Given the description of an element on the screen output the (x, y) to click on. 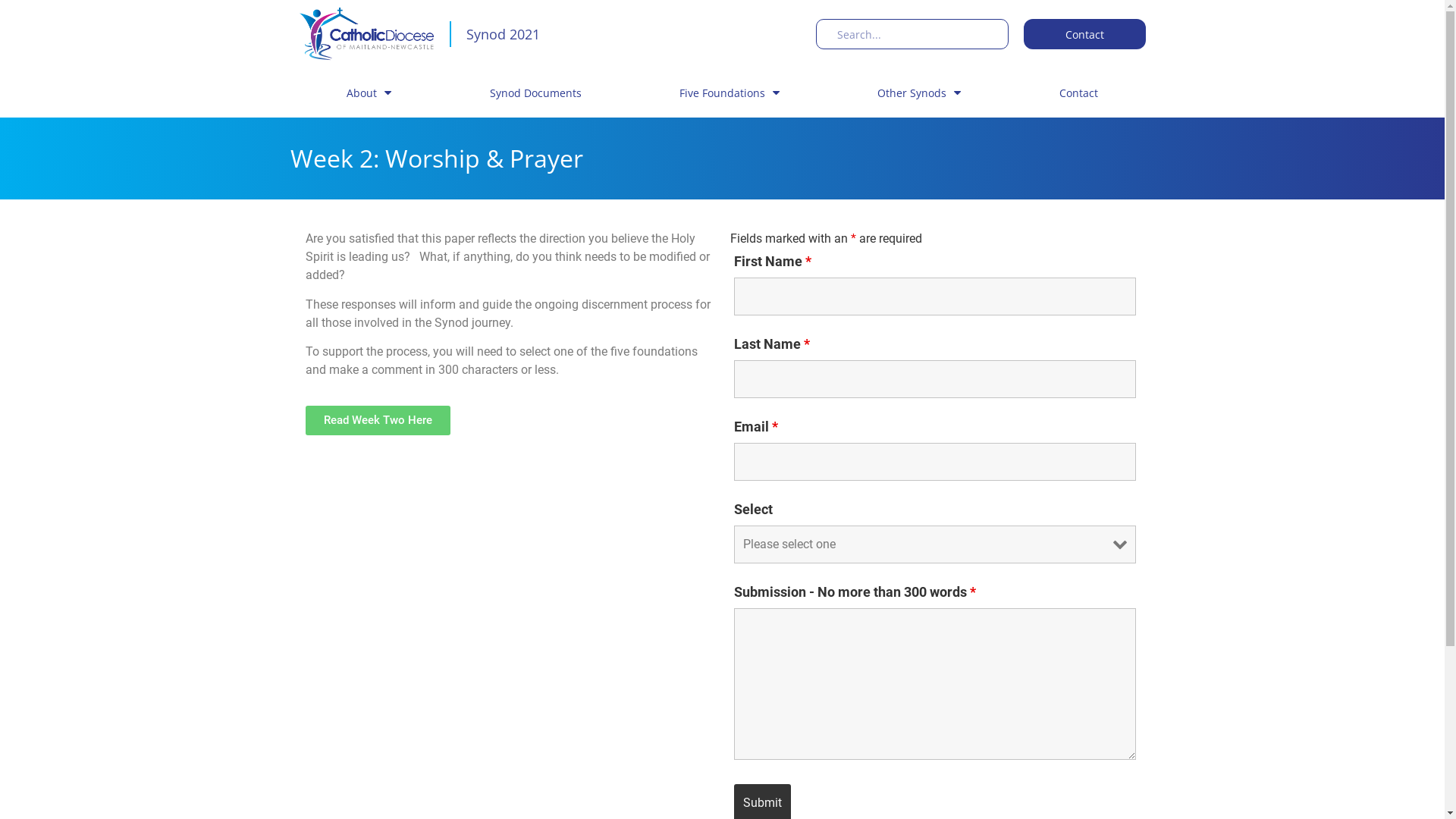
Search Element type: hover (917, 33)
Other Synods Element type: text (919, 92)
Synod 2021 Element type: text (502, 34)
Synod Documents Element type: text (535, 92)
Read Week Two Here Element type: text (376, 420)
Five Foundations Element type: text (729, 92)
Contact Element type: text (1084, 33)
About Element type: text (368, 92)
Contact Element type: text (1078, 92)
